Given the description of an element on the screen output the (x, y) to click on. 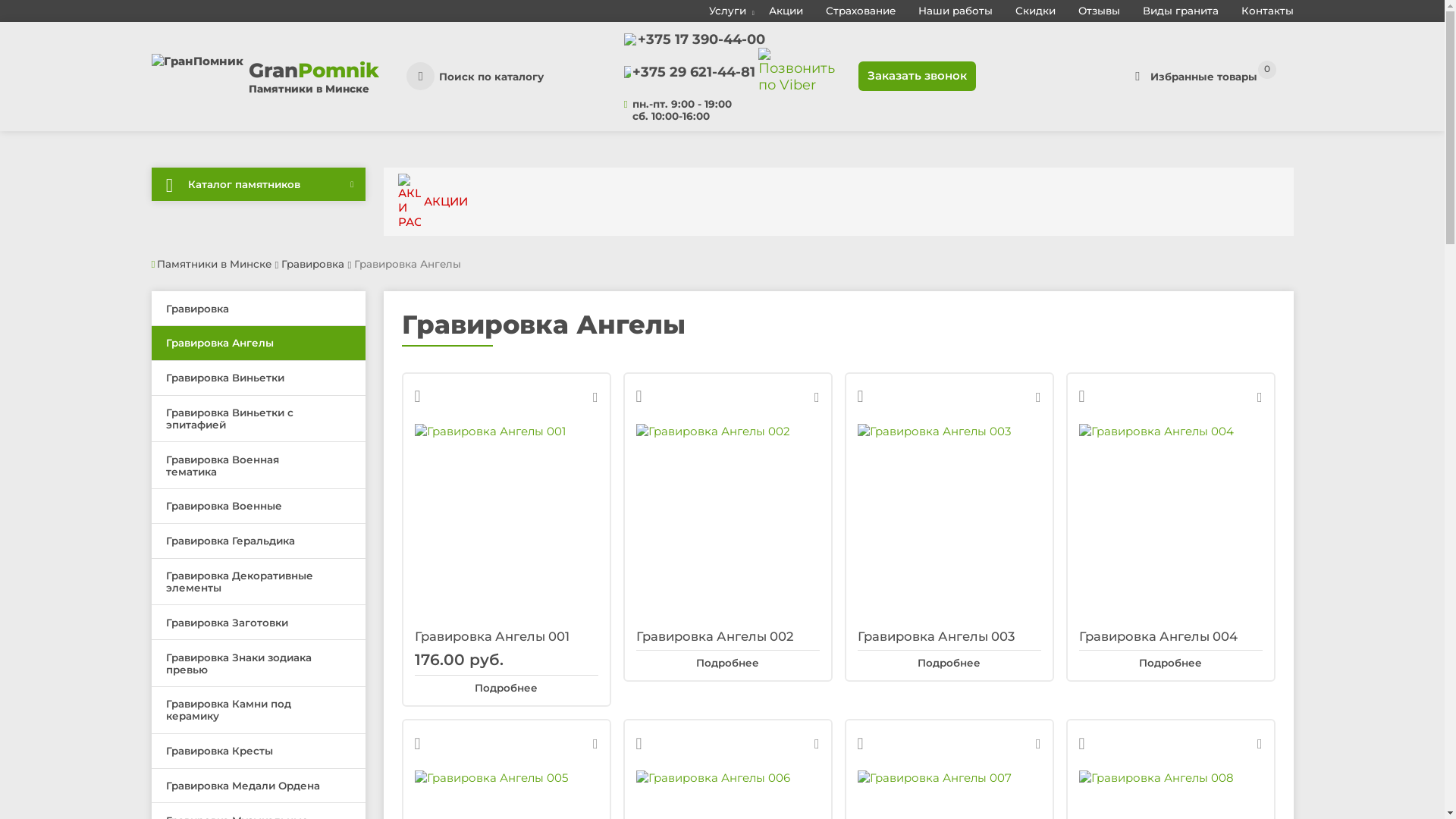
+375 17 390-44-00 Element type: text (701, 39)
+375 29 621-44-81 Element type: text (693, 71)
